Given the description of an element on the screen output the (x, y) to click on. 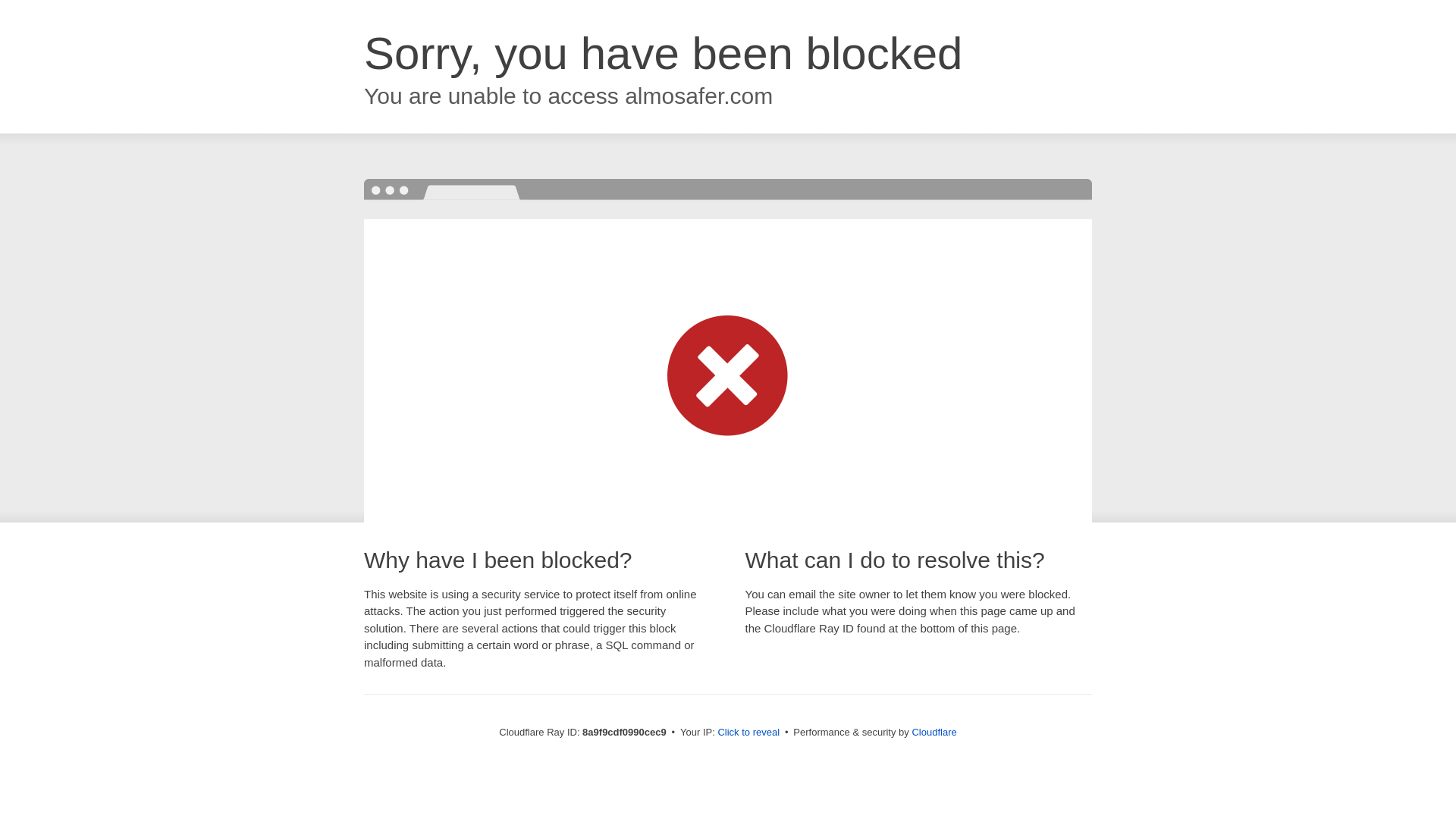
Cloudflare (933, 731)
Click to reveal (747, 732)
